Given the description of an element on the screen output the (x, y) to click on. 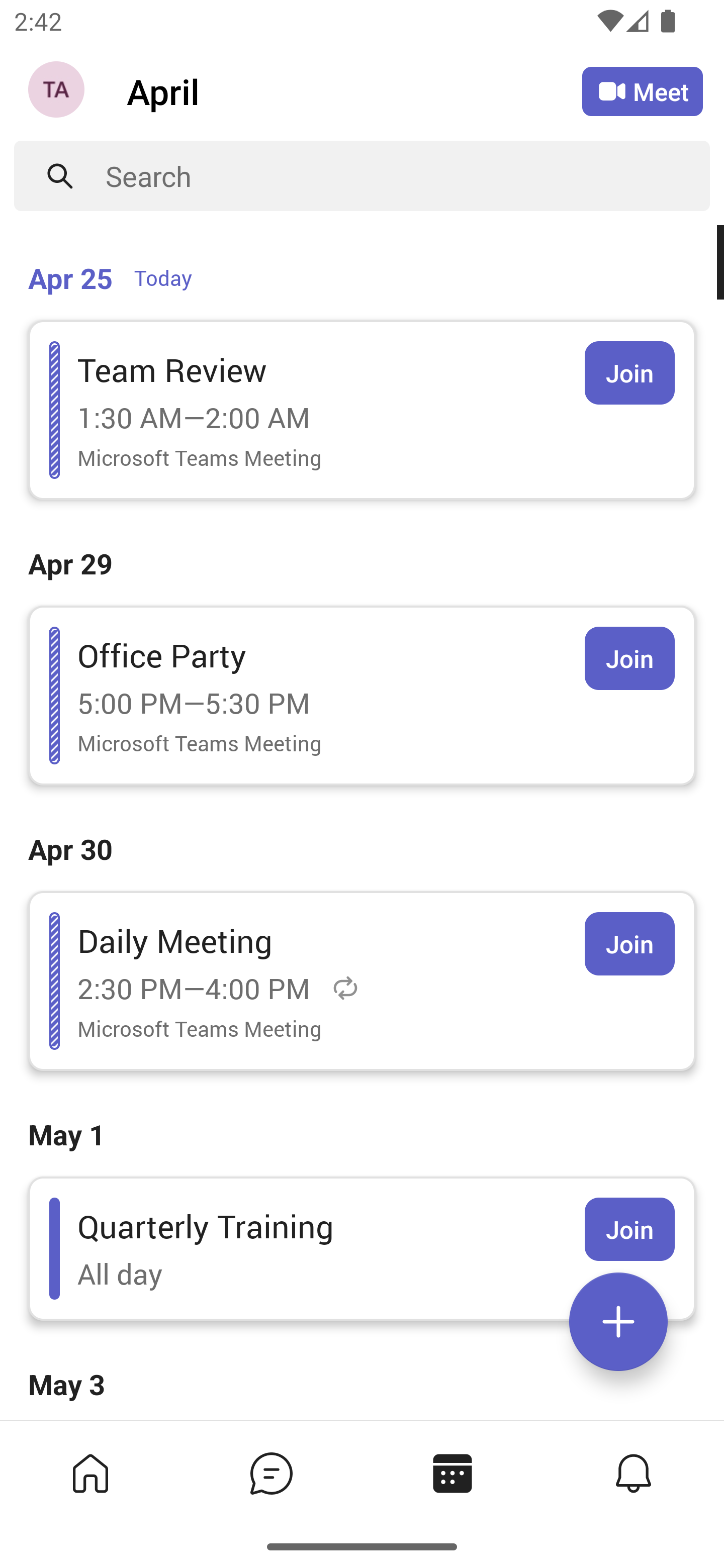
Navigation (58, 91)
Meet Meet now or join with an ID (642, 91)
April April Calendar Agenda View (354, 90)
Search (407, 176)
Join (629, 372)
Join (629, 658)
Join (629, 943)
Join (629, 1228)
Expand meetings menu (618, 1321)
Home tab,1 of 4, not selected (90, 1472)
Chat tab,2 of 4, not selected (271, 1472)
Calendar tab, 3 of 4 (452, 1472)
Activity tab,4 of 4, not selected (633, 1472)
